Given the description of an element on the screen output the (x, y) to click on. 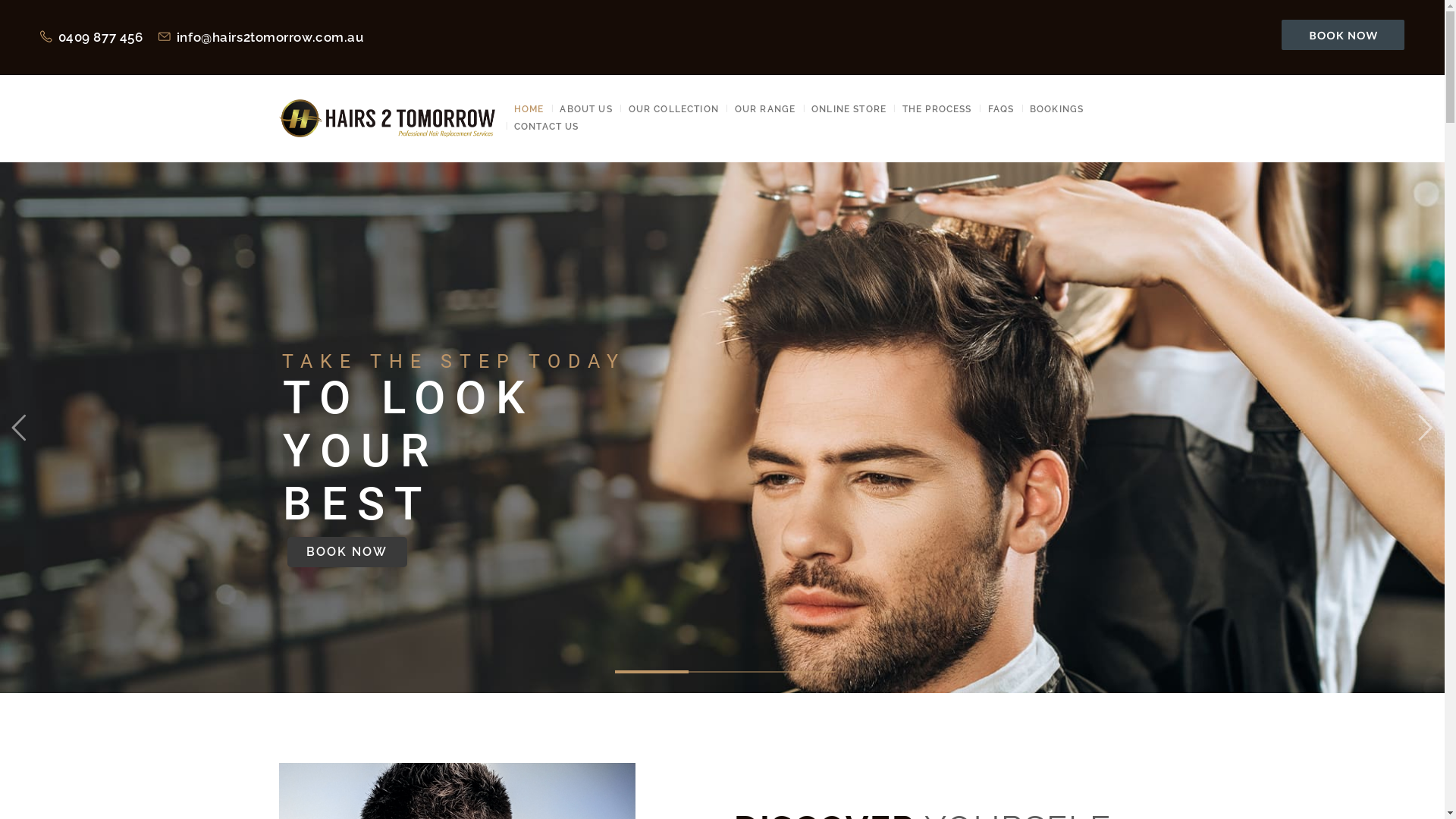
HOME Element type: text (529, 109)
THE PROCESS Element type: text (936, 109)
CONTACT US Element type: text (546, 126)
FAQS Element type: text (1000, 109)
BOOKINGS Element type: text (1057, 109)
0409 877 456 Element type: text (91, 36)
ONLINE STORE Element type: text (848, 109)
OUR COLLECTION Element type: text (673, 109)
info@hairs2tomorrow.com.au Element type: text (260, 36)
BOOK NOW Element type: text (346, 551)
OUR RANGE Element type: text (764, 109)
ABOUT US Element type: text (586, 109)
